Given the description of an element on the screen output the (x, y) to click on. 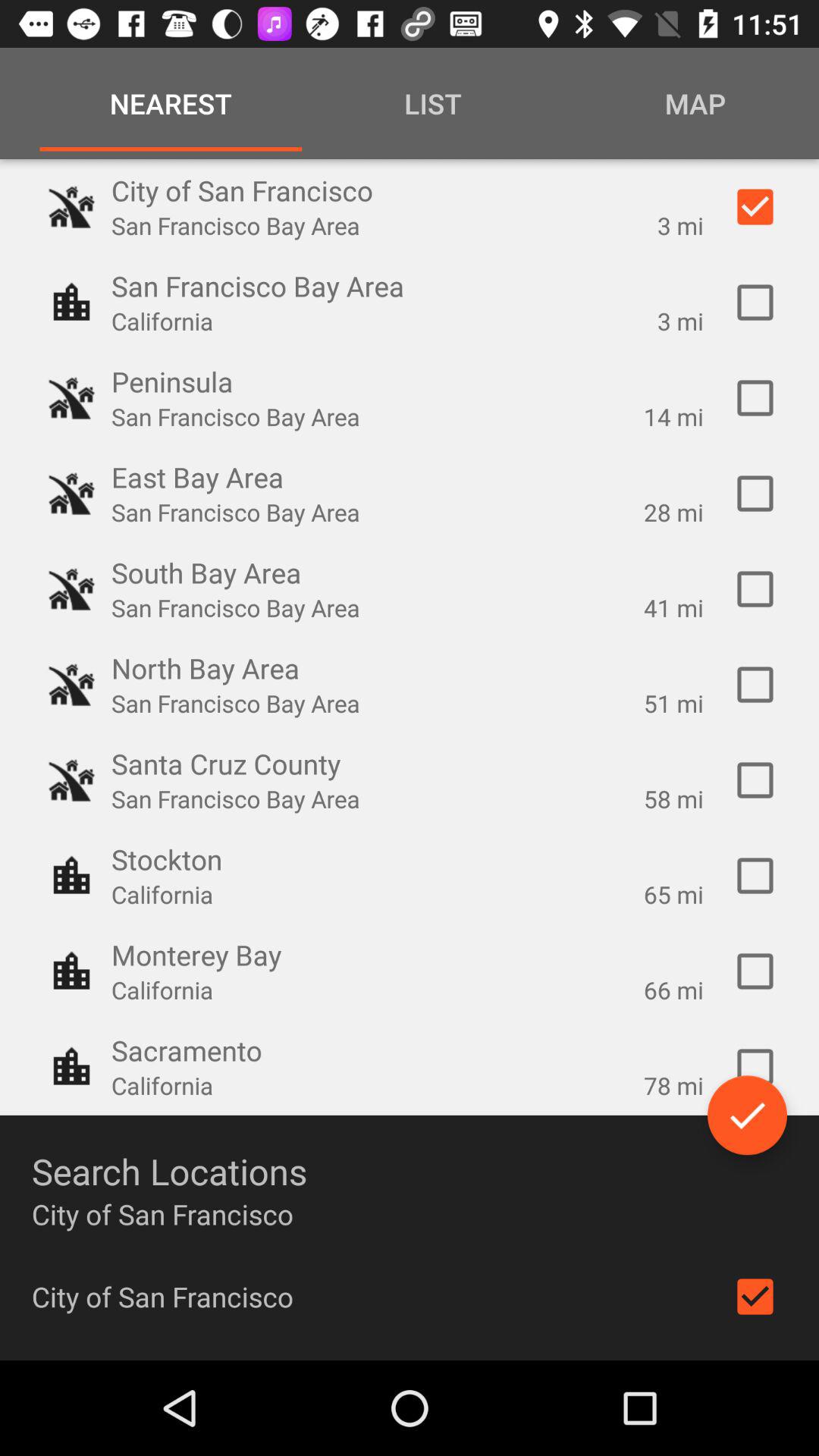
mark the location (755, 780)
